Given the description of an element on the screen output the (x, y) to click on. 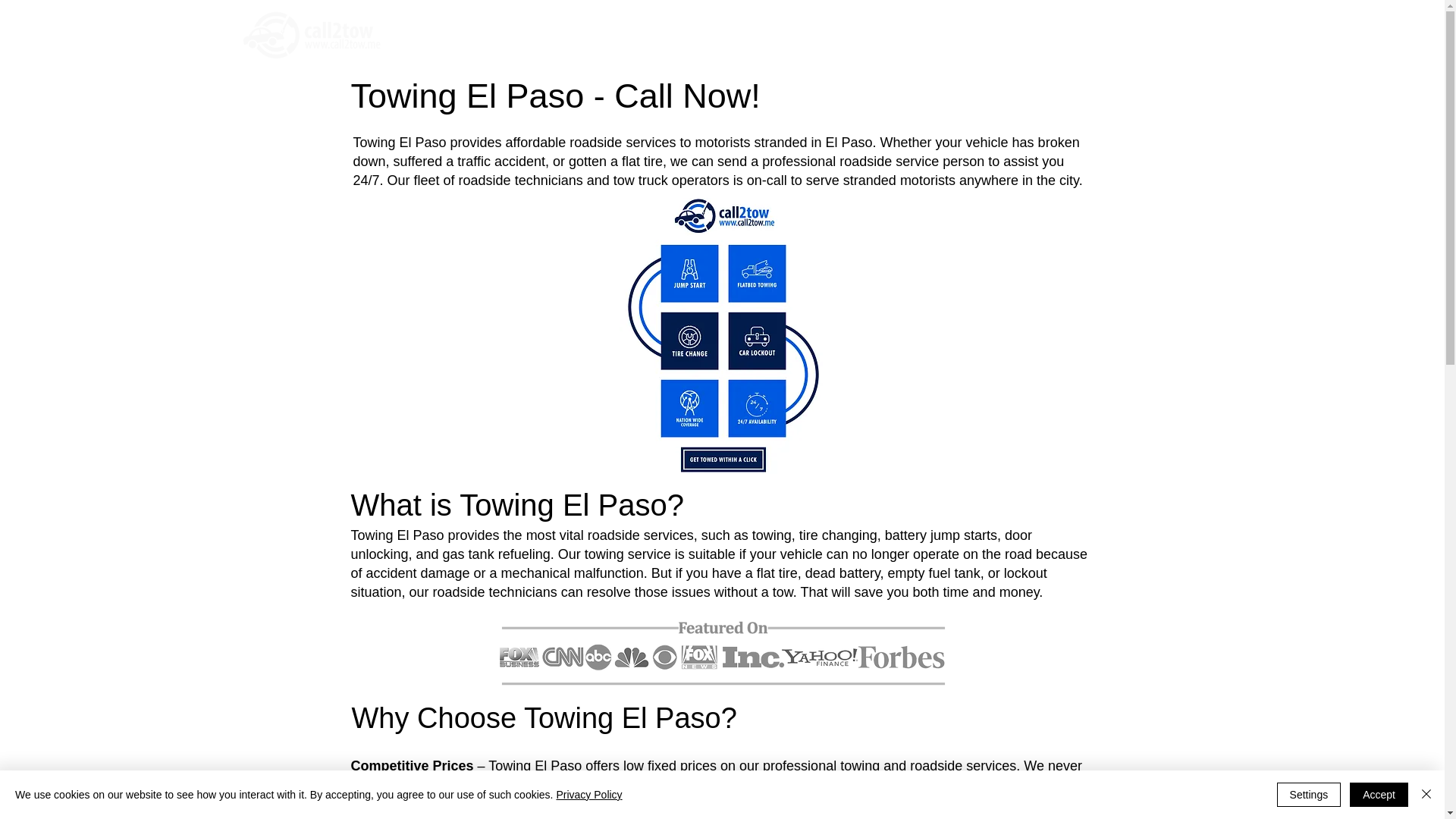
HOW IT WORKS (839, 40)
GET LISTED (1110, 40)
Call2Tow (310, 35)
Accept (1378, 794)
HOME (766, 40)
Privacy Policy (588, 794)
Settings (1308, 794)
REVIEWS (974, 40)
ABOUT (914, 40)
Call2Tow - Nationwide Towing Directory (723, 656)
SERVICES (1039, 40)
